Given the description of an element on the screen output the (x, y) to click on. 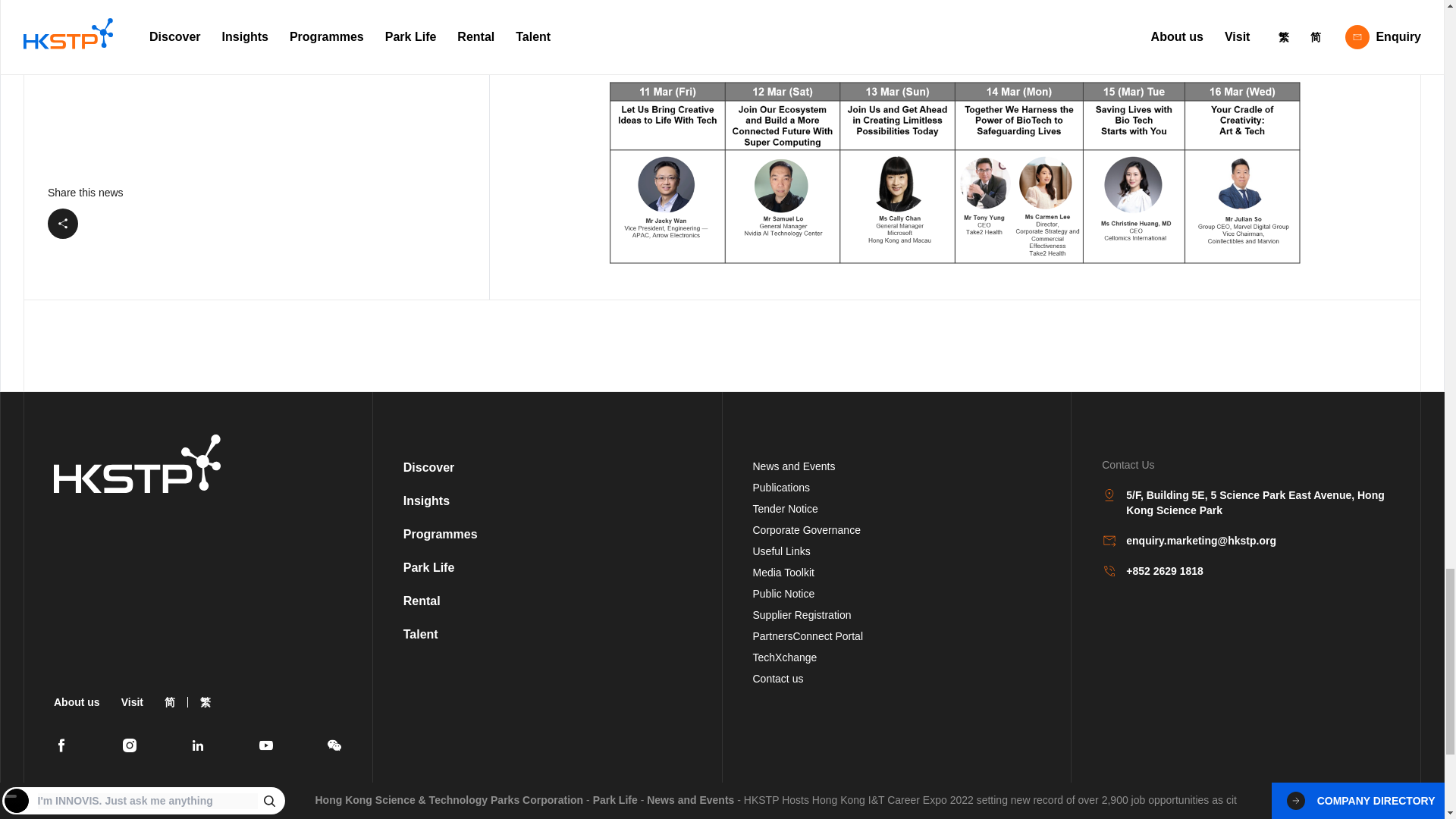
Discover (428, 467)
About us (76, 702)
Tender Notice (784, 508)
Talent (420, 634)
Publications (780, 487)
Insights (426, 500)
News and Events (793, 466)
Visit (131, 702)
Programmes (440, 533)
Park Life (428, 567)
Rental (422, 600)
